Given the description of an element on the screen output the (x, y) to click on. 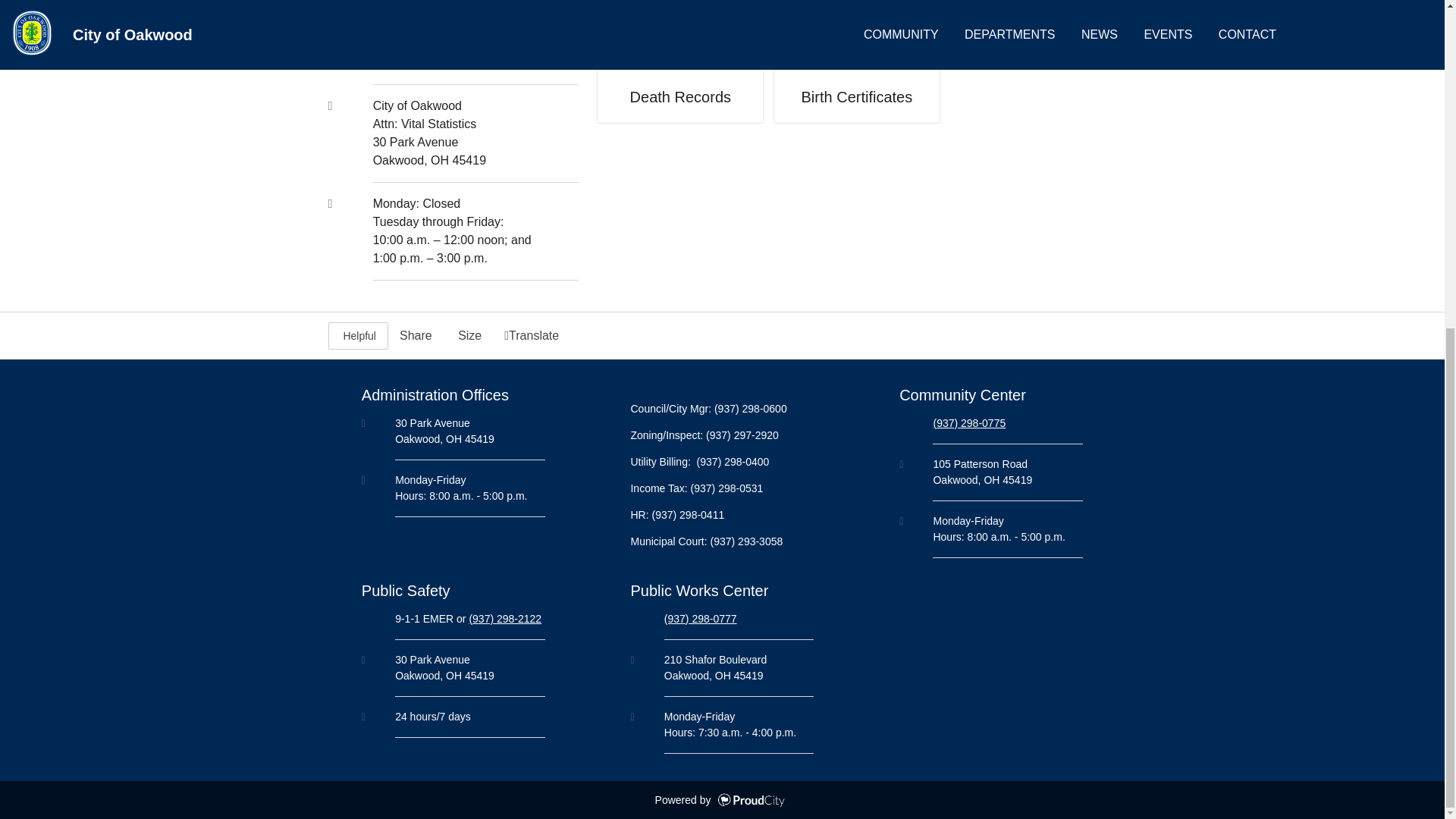
Share (416, 335)
Translate (531, 335)
Size (468, 335)
Birth Certificates (856, 84)
Death Records (679, 84)
Helpful (357, 334)
